Given the description of an element on the screen output the (x, y) to click on. 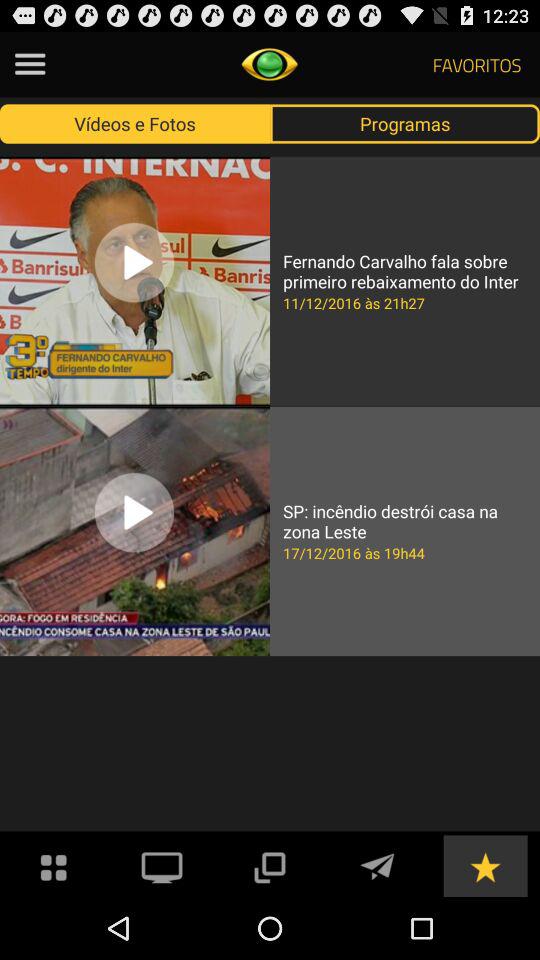
menu item (29, 64)
